Given the description of an element on the screen output the (x, y) to click on. 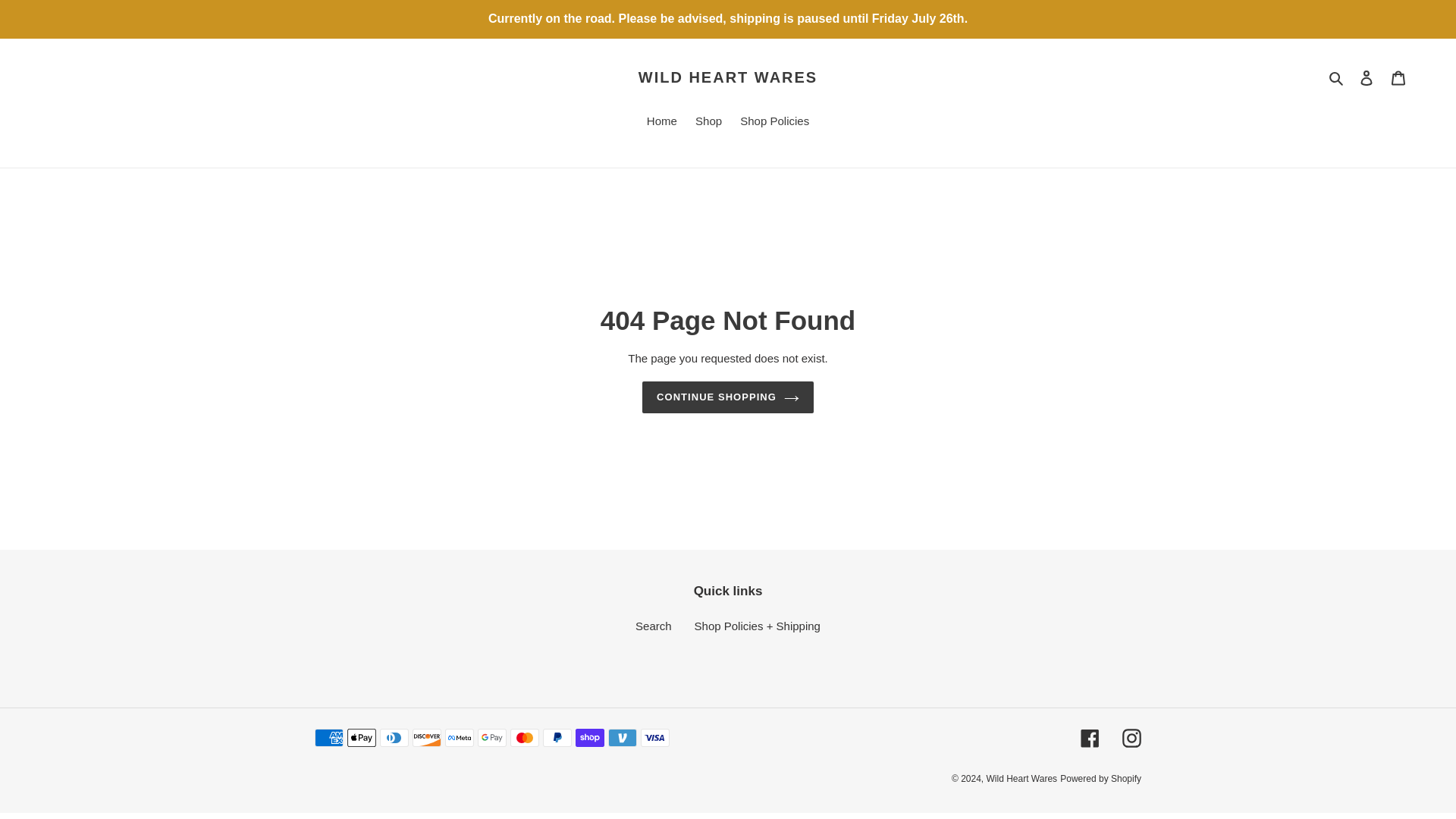
Instagram (1131, 737)
Shop (708, 121)
Facebook (1089, 737)
CONTINUE SHOPPING (727, 397)
Wild Heart Wares (1022, 778)
Shop Policies (774, 121)
Search (652, 625)
Powered by Shopify (1100, 778)
Home (661, 121)
WILD HEART WARES (727, 76)
Log in (1366, 77)
Cart (1397, 77)
Search (1337, 76)
